Given the description of an element on the screen output the (x, y) to click on. 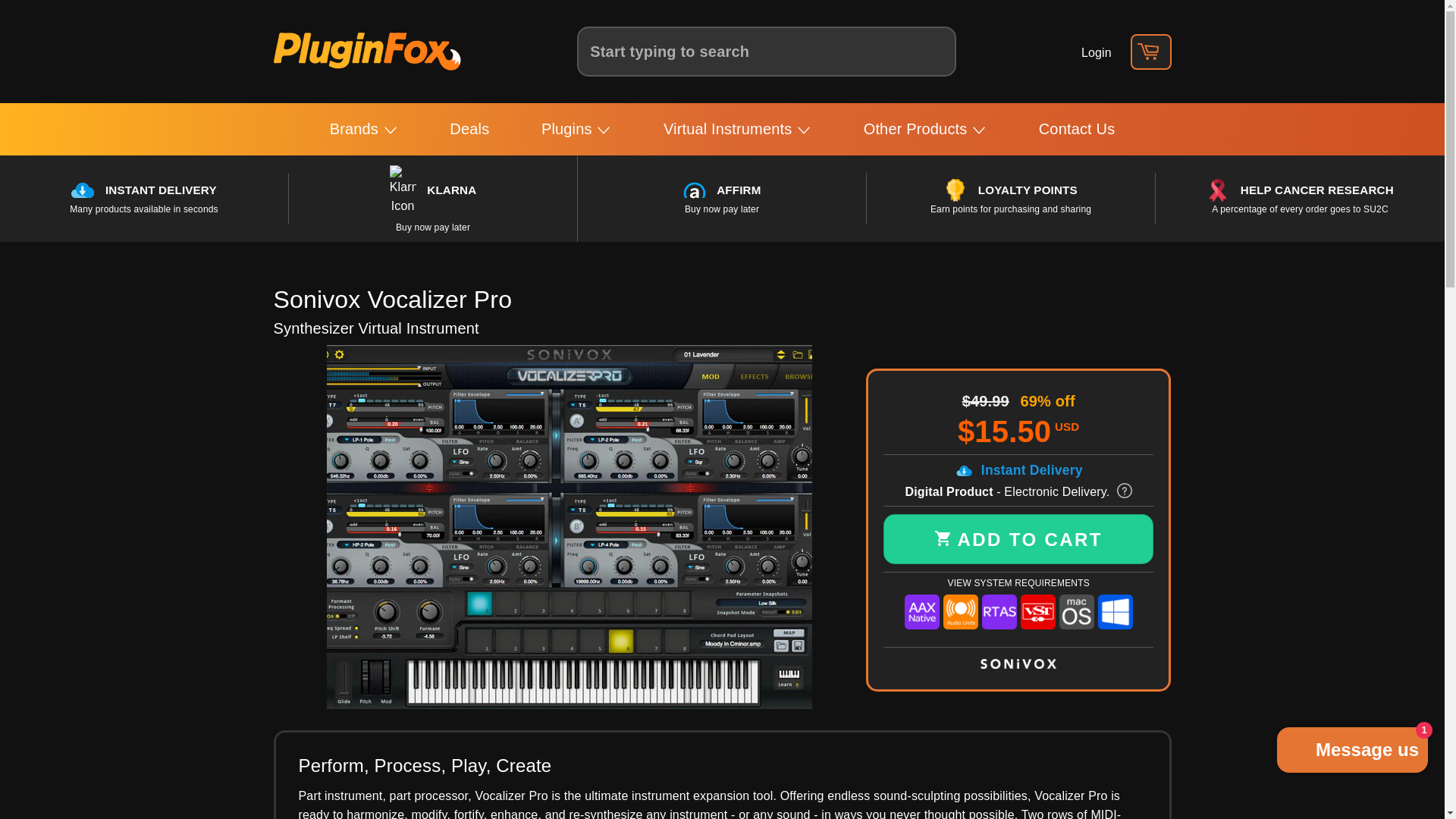
Shopify online store chat (1352, 751)
